Given the description of an element on the screen output the (x, y) to click on. 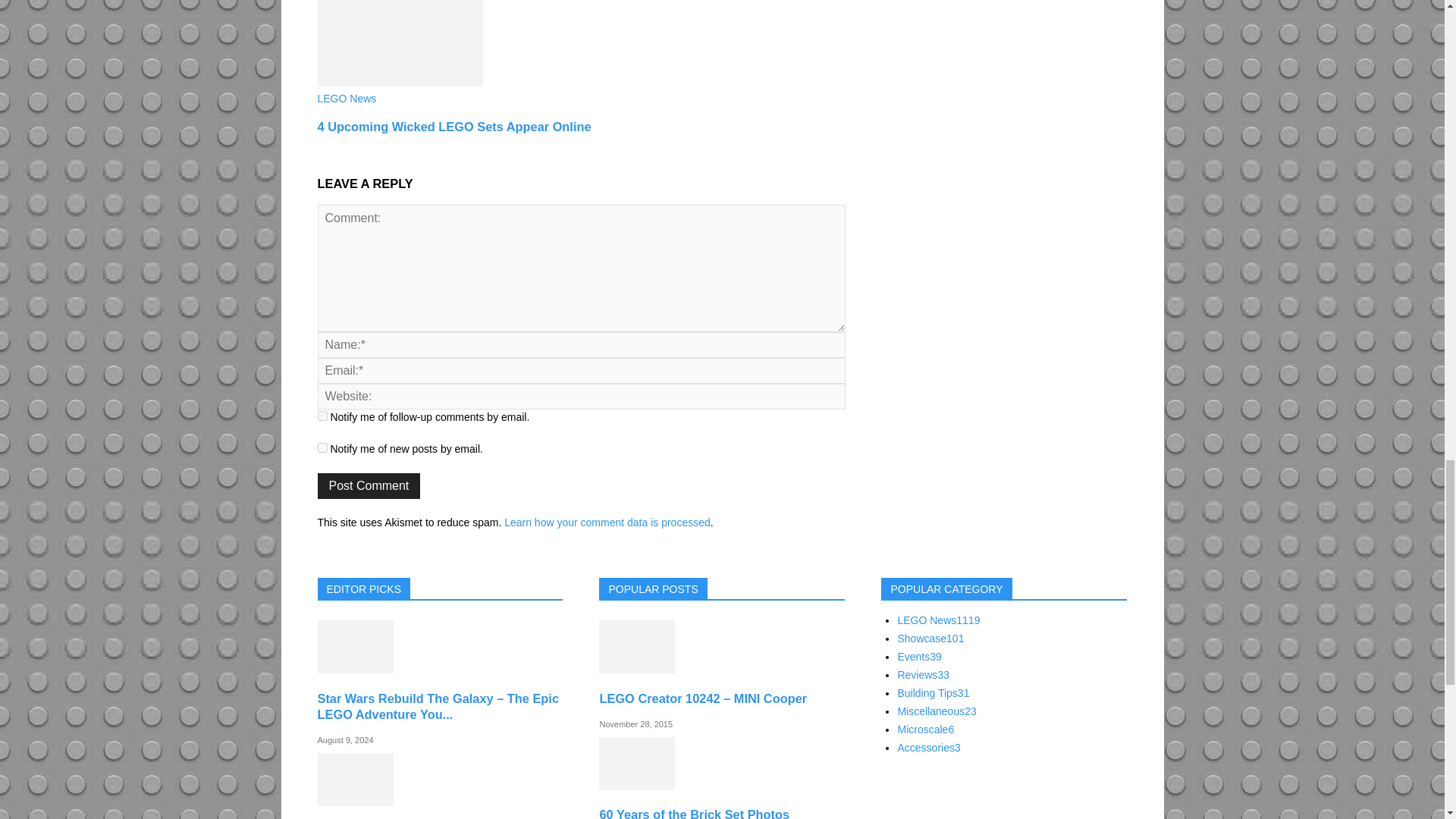
subscribe (321, 415)
Post Comment (368, 485)
subscribe (321, 447)
